Given the description of an element on the screen output the (x, y) to click on. 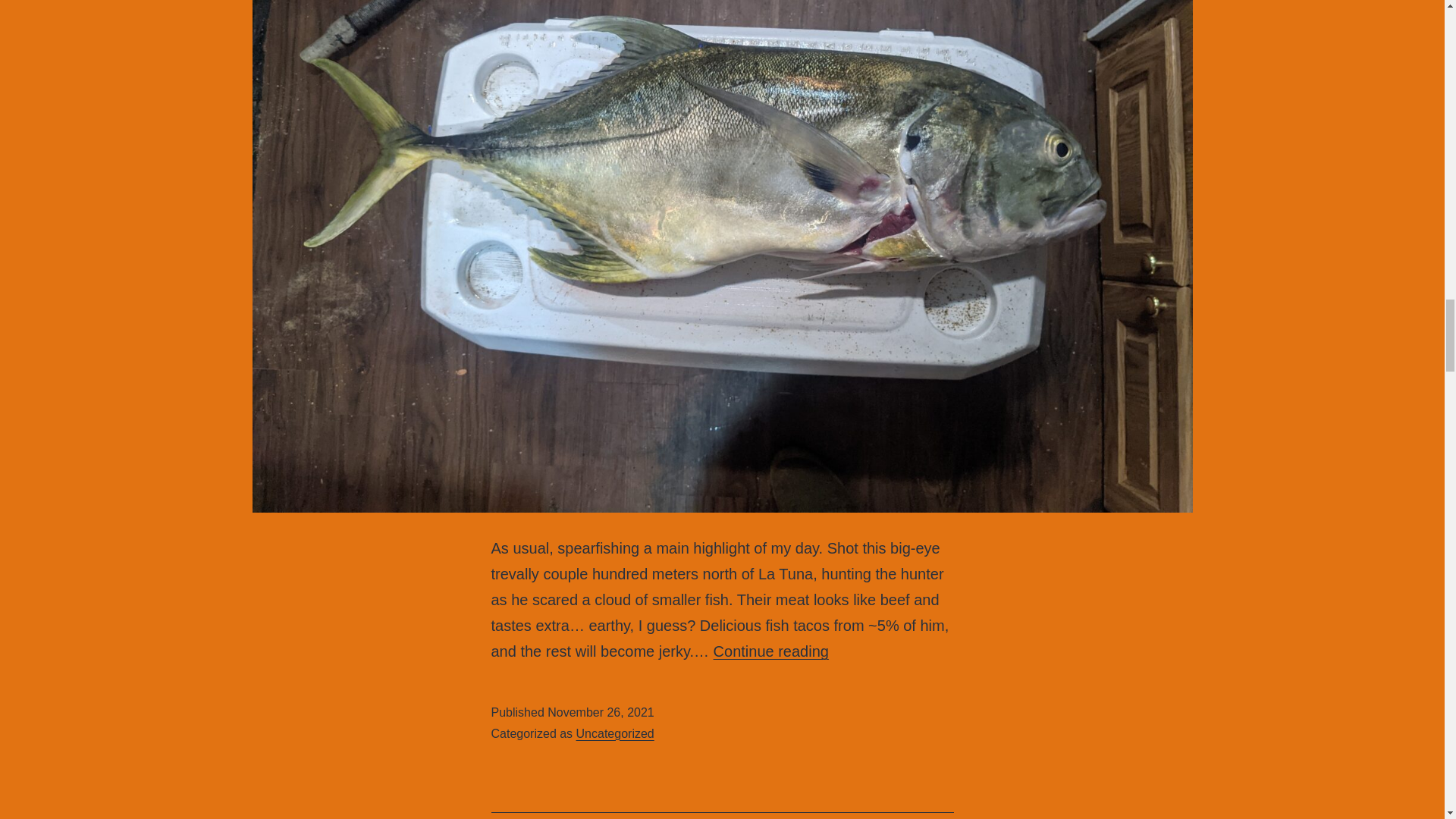
Uncategorized (770, 651)
